Given the description of an element on the screen output the (x, y) to click on. 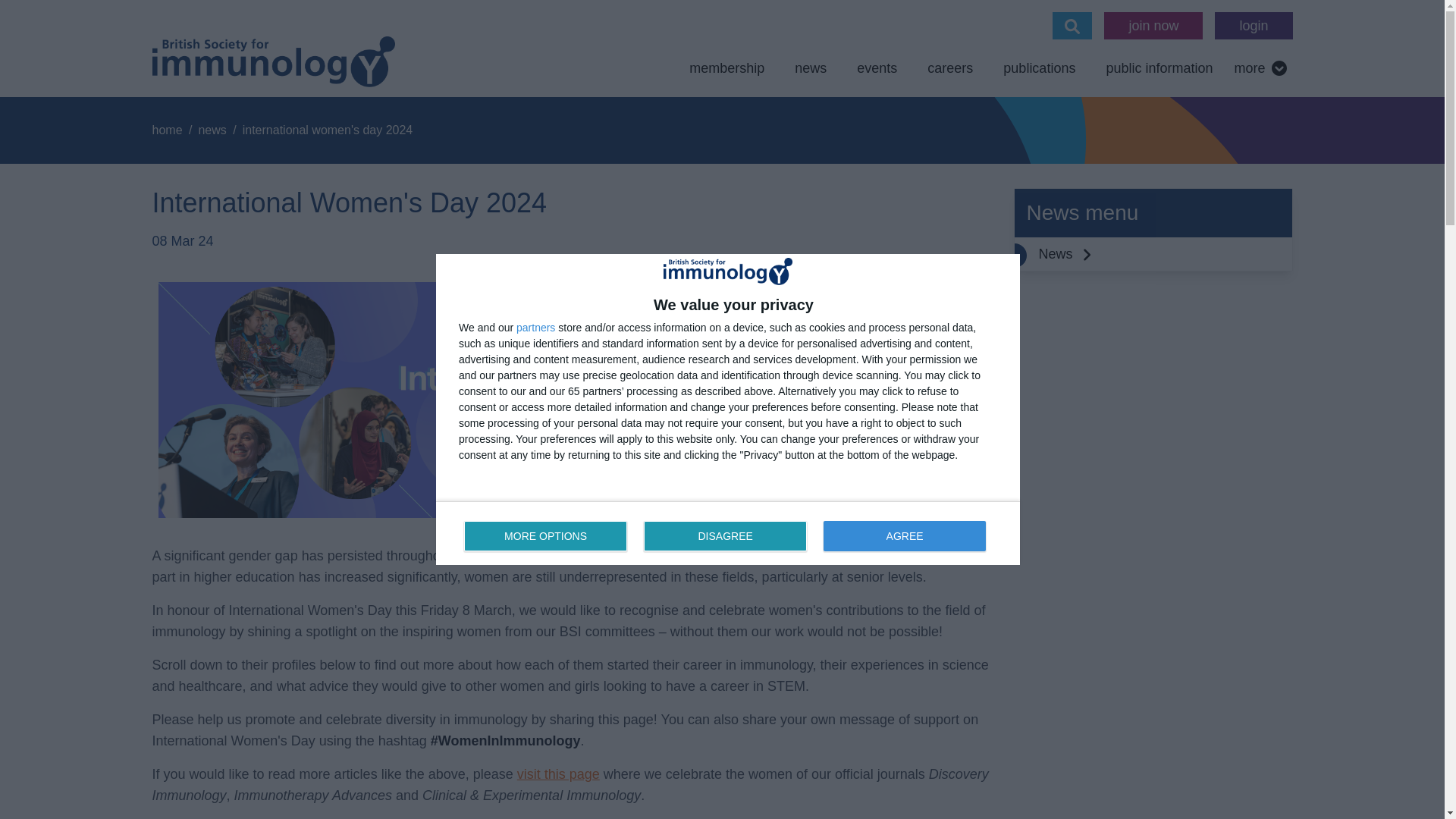
partners (535, 327)
join now (1152, 25)
View More (1259, 68)
login (1253, 25)
AGREE (904, 535)
MORE OPTIONS (727, 533)
DISAGREE (545, 535)
